Given the description of an element on the screen output the (x, y) to click on. 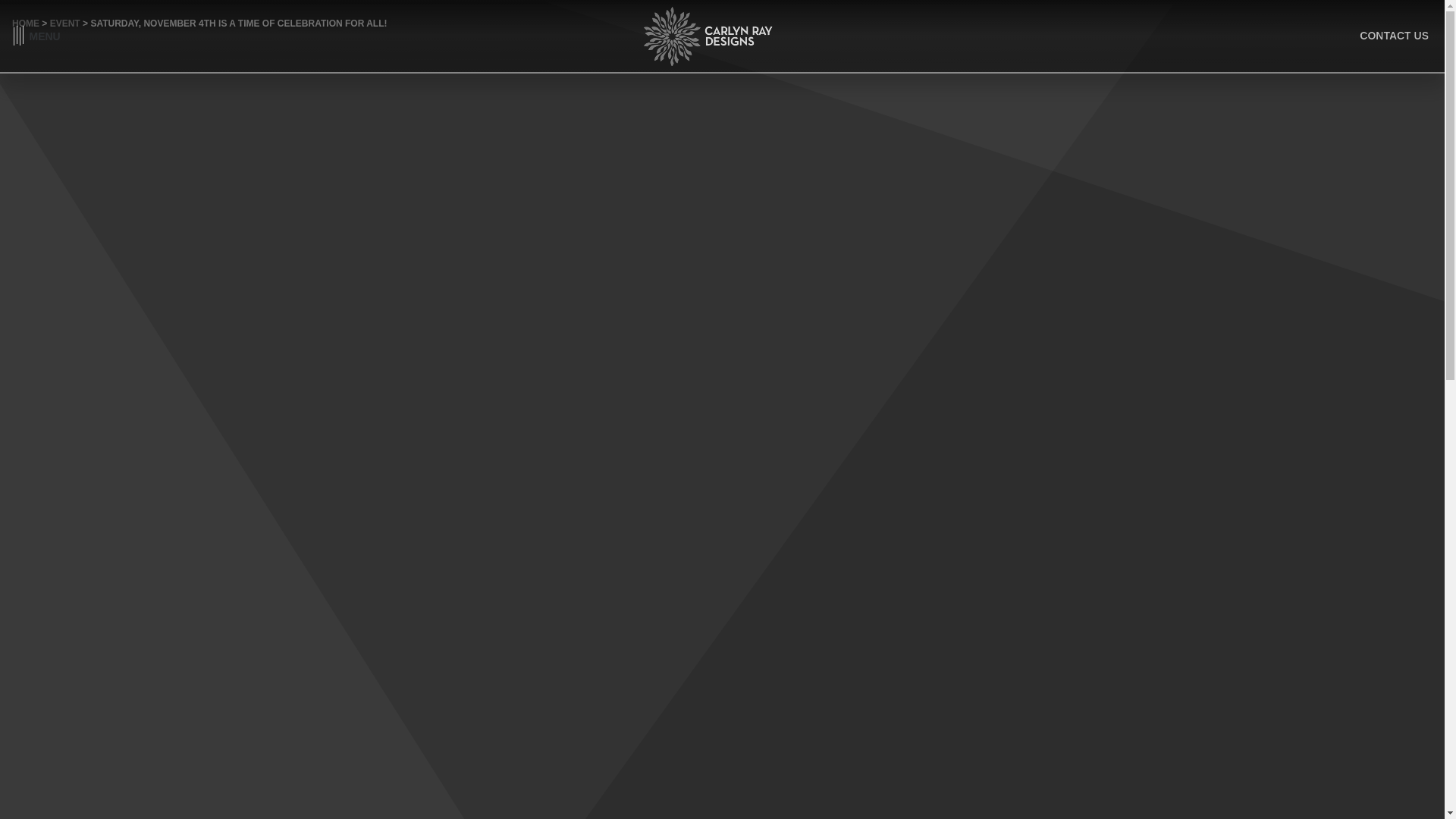
CONTACT US (1393, 35)
HOME (25, 23)
MENU (36, 36)
EVENT (64, 23)
